Given the description of an element on the screen output the (x, y) to click on. 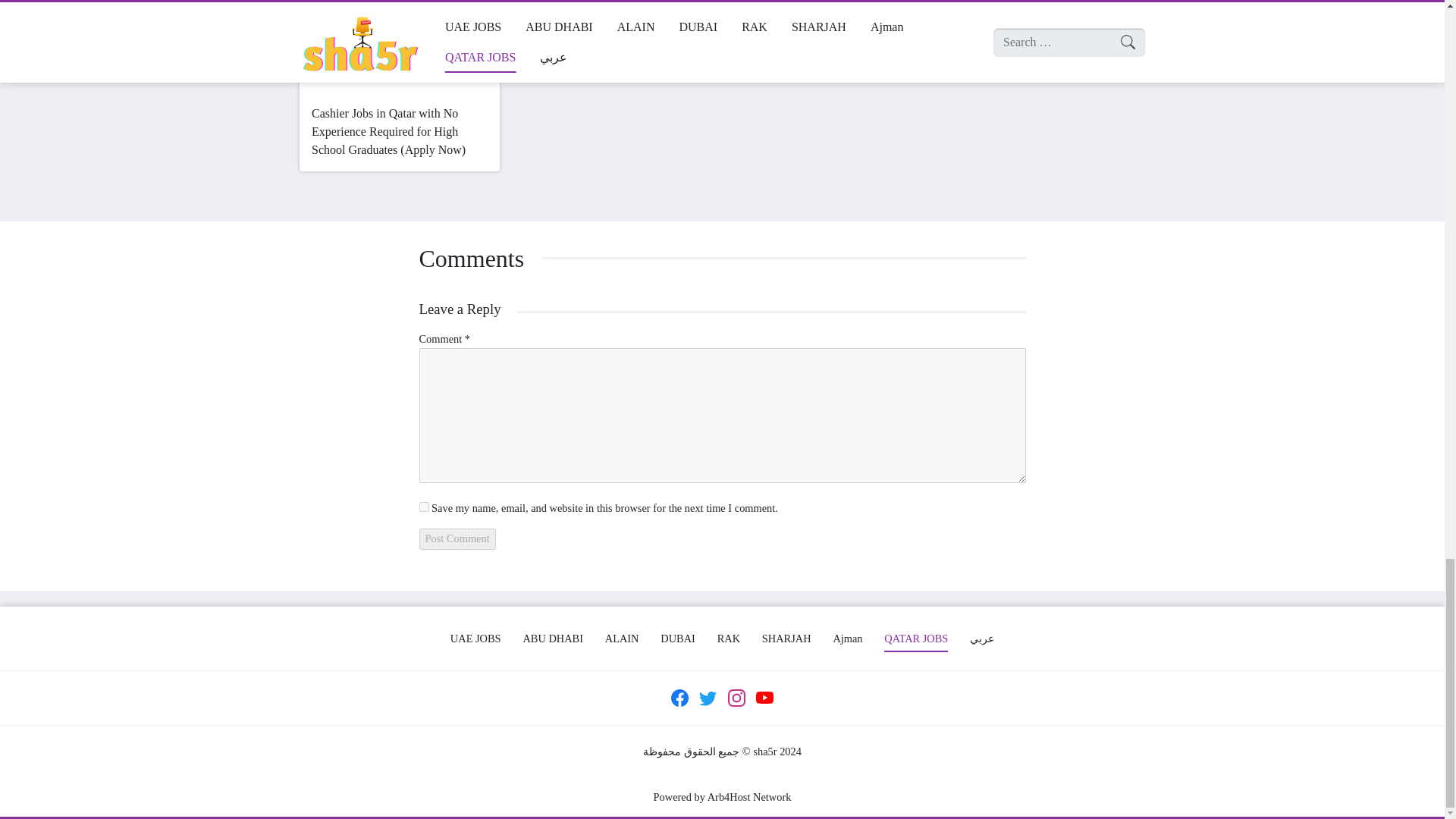
Post Comment (457, 538)
yes (423, 506)
